Given the description of an element on the screen output the (x, y) to click on. 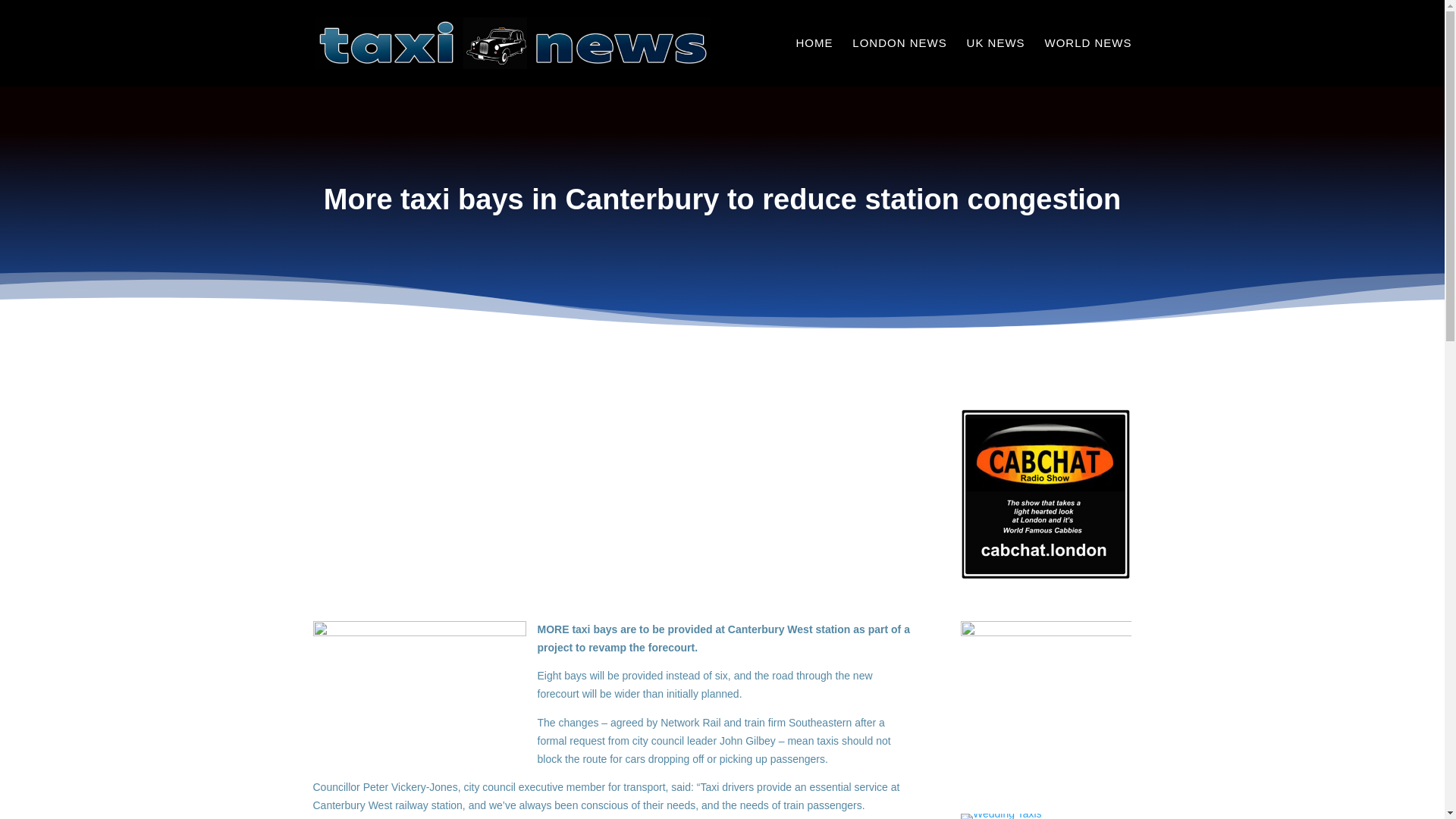
UK NEWS (995, 61)
WORLD NEWS (1088, 61)
Wedding Taxis (1001, 816)
Cab Chat New Pic 2 (1045, 493)
LONDON NEWS (898, 61)
